Given the description of an element on the screen output the (x, y) to click on. 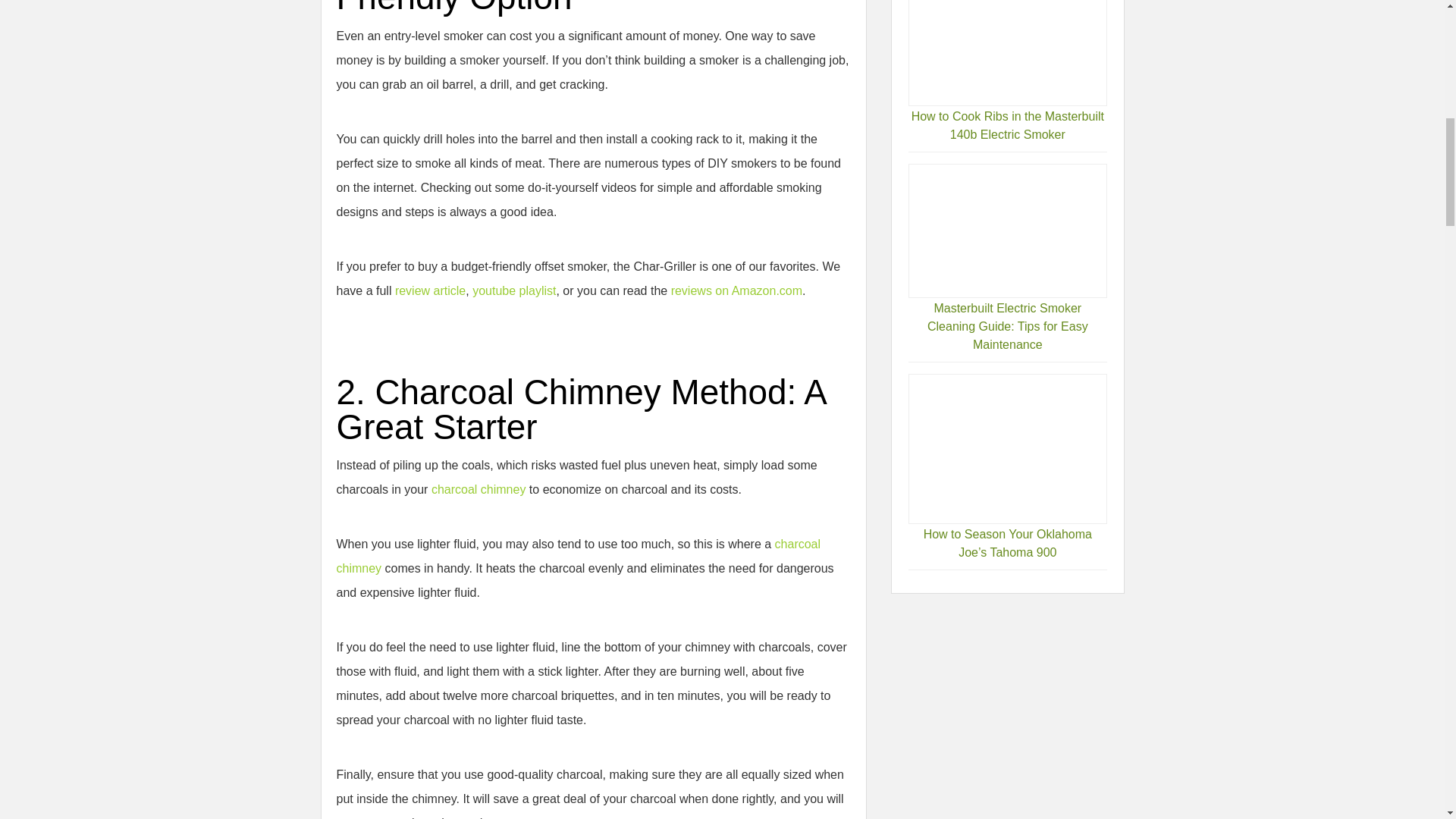
youtube playlist (513, 290)
How to Cook Ribs in the Masterbuilt 140b Electric Smoker (1007, 124)
review article (429, 290)
charcoal chimney (578, 555)
reviews on Amazon.com (736, 290)
charcoal chimney (477, 489)
